Given the description of an element on the screen output the (x, y) to click on. 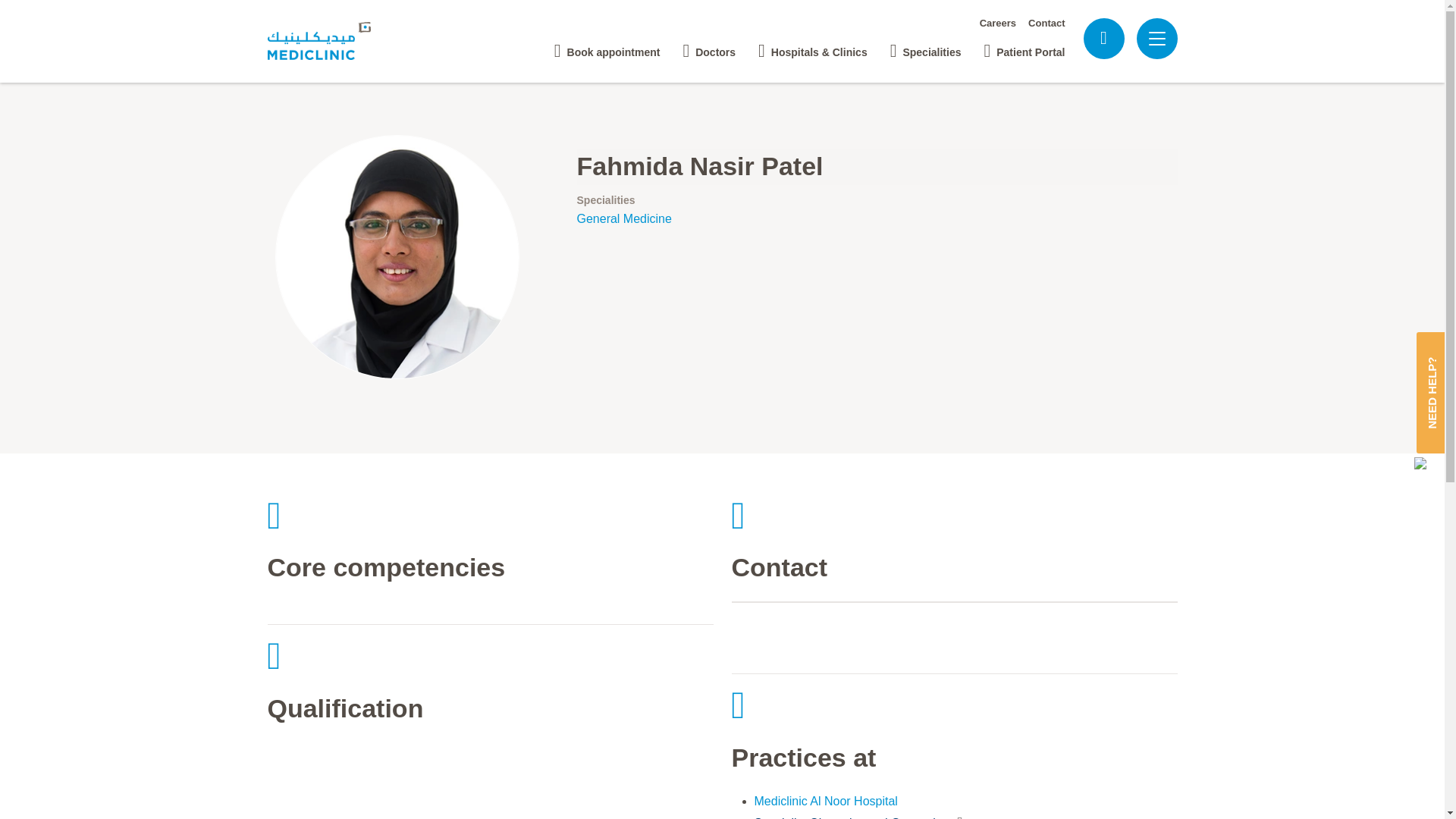
Search (1103, 38)
Book appointment (607, 45)
Specialities (924, 45)
Menu (1155, 38)
Contact (1045, 22)
Doctors (708, 45)
Careers (997, 22)
Specialist Obstetrics and Gynecology (858, 815)
Patient Portal (1024, 45)
Mediclinic Logo (331, 40)
